Given the description of an element on the screen output the (x, y) to click on. 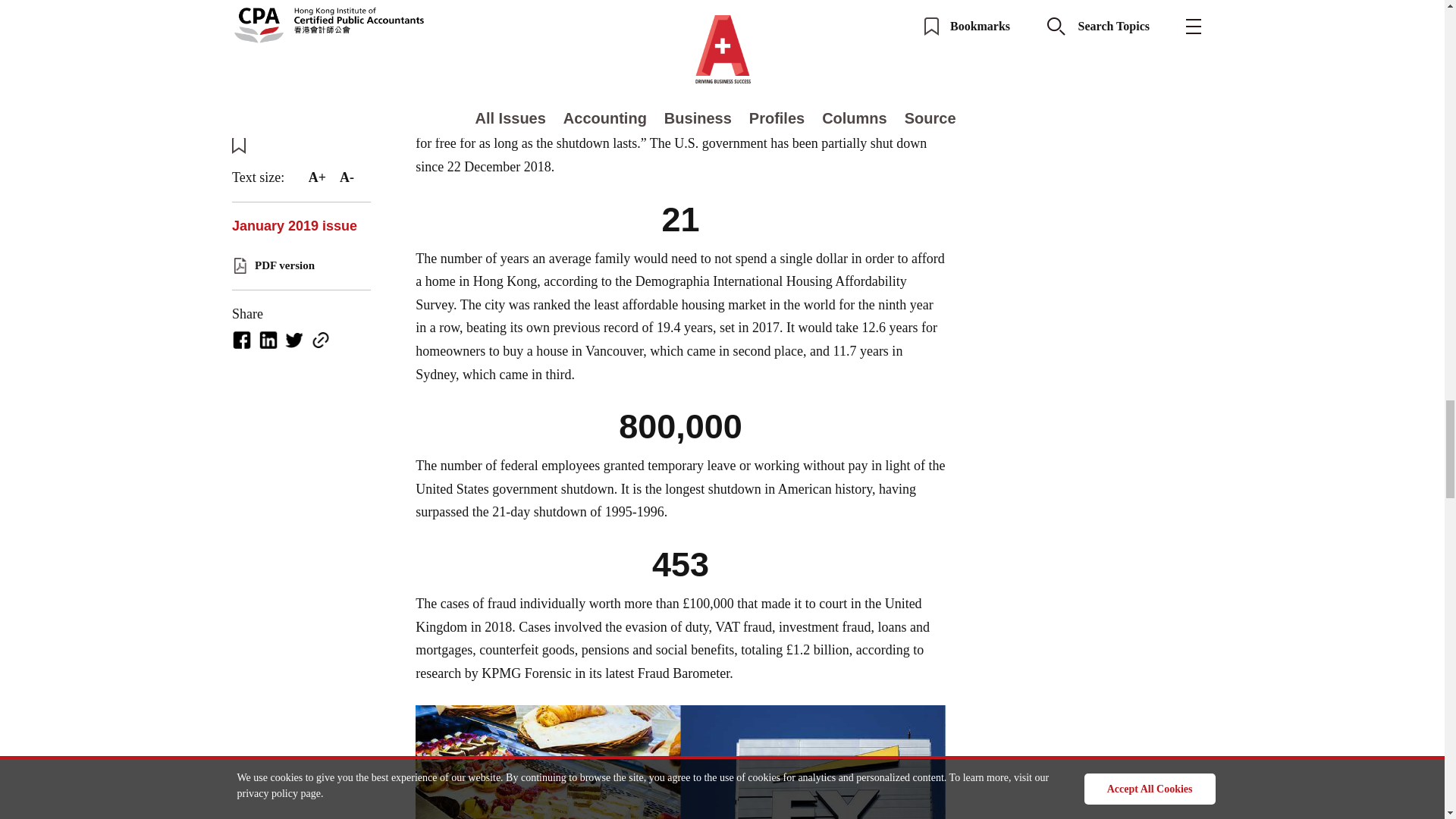
Page 2 (680, 465)
